Given the description of an element on the screen output the (x, y) to click on. 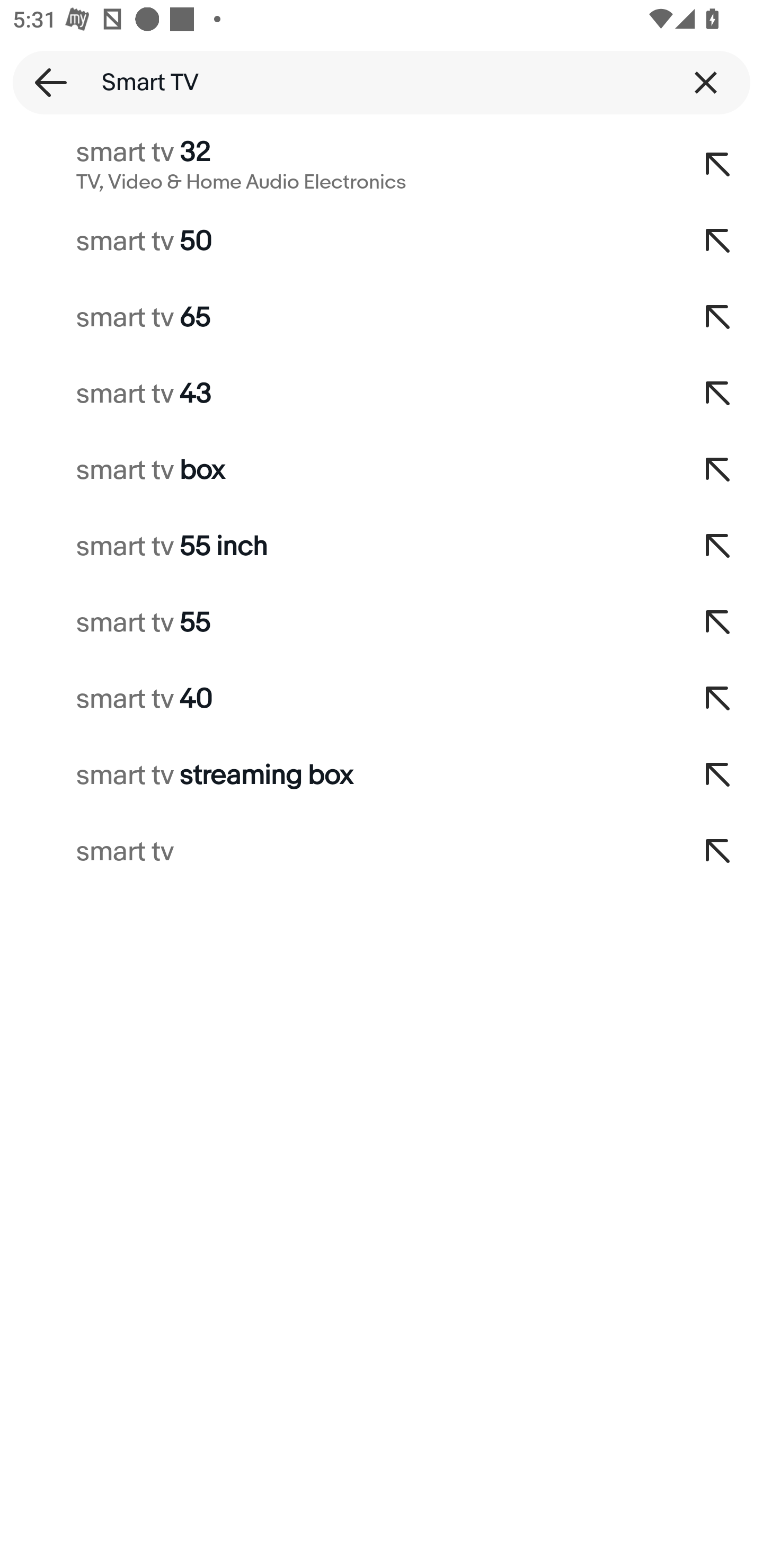
Back (44, 82)
Clear query (705, 82)
Smart TV (381, 82)
smart tv 32
TV, Video & Home Audio Electronics (336, 165)
smart tv 50 (336, 241)
Add to search query,smart tv 50 (718, 241)
smart tv 65 (336, 317)
Add to search query,smart tv 65 (718, 317)
smart tv 43 (336, 393)
Add to search query,smart tv 43 (718, 393)
smart tv box (336, 470)
Add to search query,smart tv box (718, 470)
smart tv 55 inch (336, 546)
Add to search query,smart tv 55 inch (718, 546)
smart tv 55 (336, 622)
Add to search query,smart tv 55 (718, 622)
smart tv 40 (336, 698)
Add to search query,smart tv 40 (718, 698)
smart tv streaming box (336, 774)
Add to search query,smart tv streaming box (718, 774)
smart tv (336, 851)
Add to search query,smart tv (718, 851)
